Given the description of an element on the screen output the (x, y) to click on. 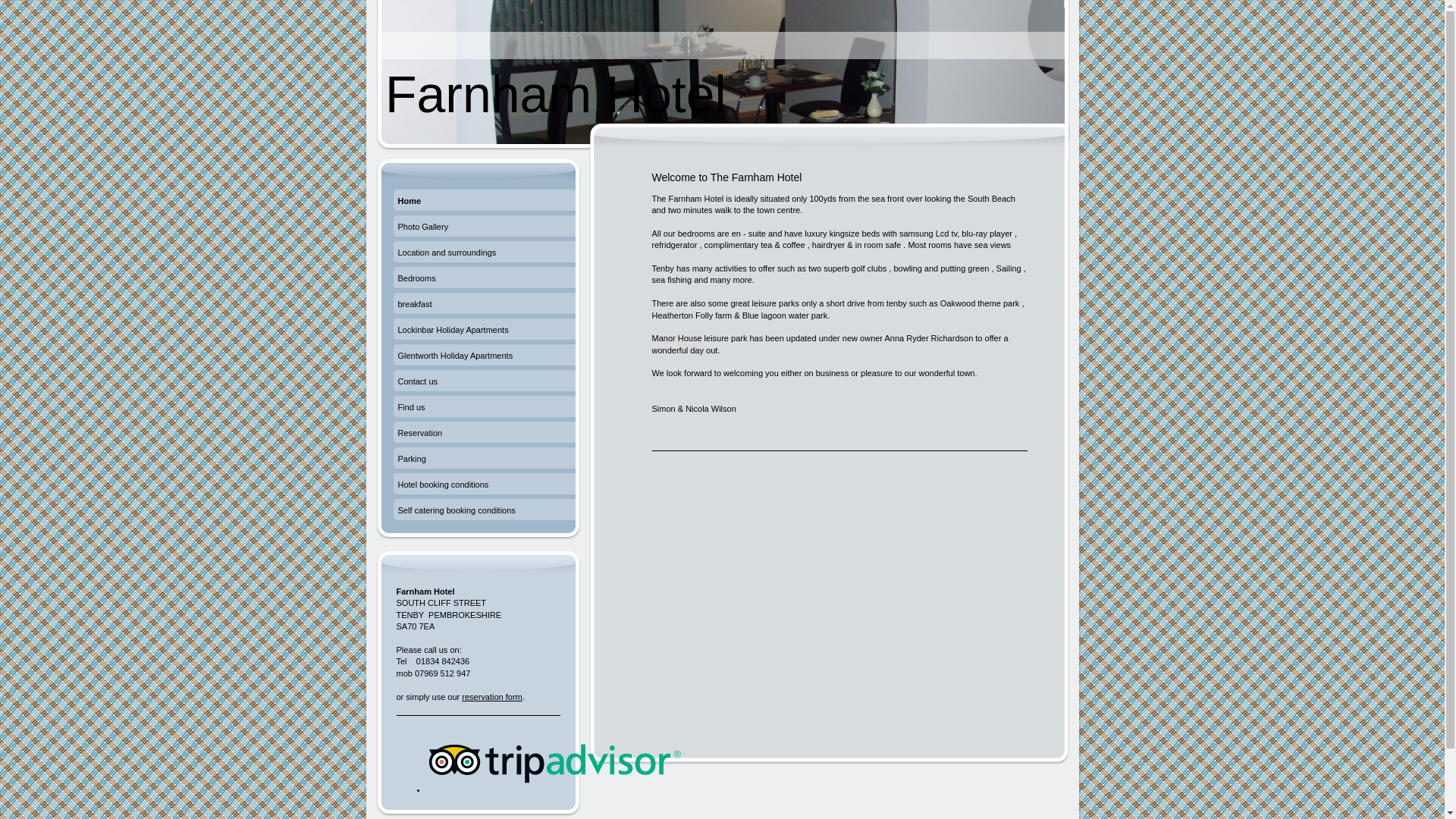
Self catering booking conditions (484, 511)
Reservation (484, 434)
Lockinbar Holiday Apartments (484, 330)
Glentworth Holiday Apartments (484, 356)
Location and surroundings (484, 253)
Bedrooms (484, 279)
Farnham Hotel (555, 94)
Contact us (484, 382)
Parking (484, 460)
Photo Gallery (484, 227)
